Given the description of an element on the screen output the (x, y) to click on. 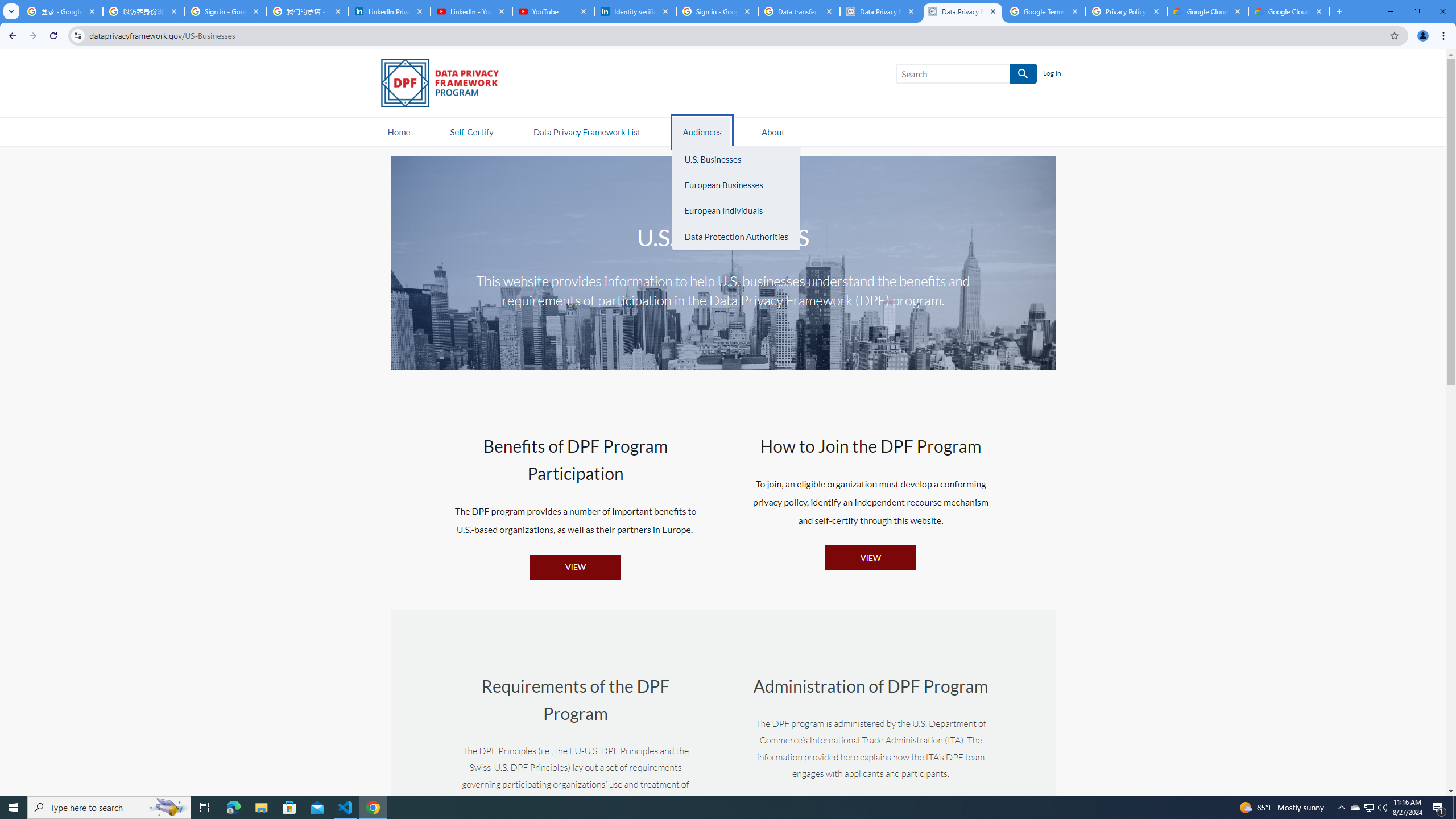
AutomationID: navitem (700, 131)
Search SEARCH (965, 75)
About (772, 131)
U.S. Businesses (735, 158)
Data Privacy Framework Logo - Link to Homepage (445, 85)
Log In (1051, 73)
Sign in - Google Accounts (225, 11)
Google Cloud Privacy Notice (1289, 11)
VIEW (870, 557)
